Given the description of an element on the screen output the (x, y) to click on. 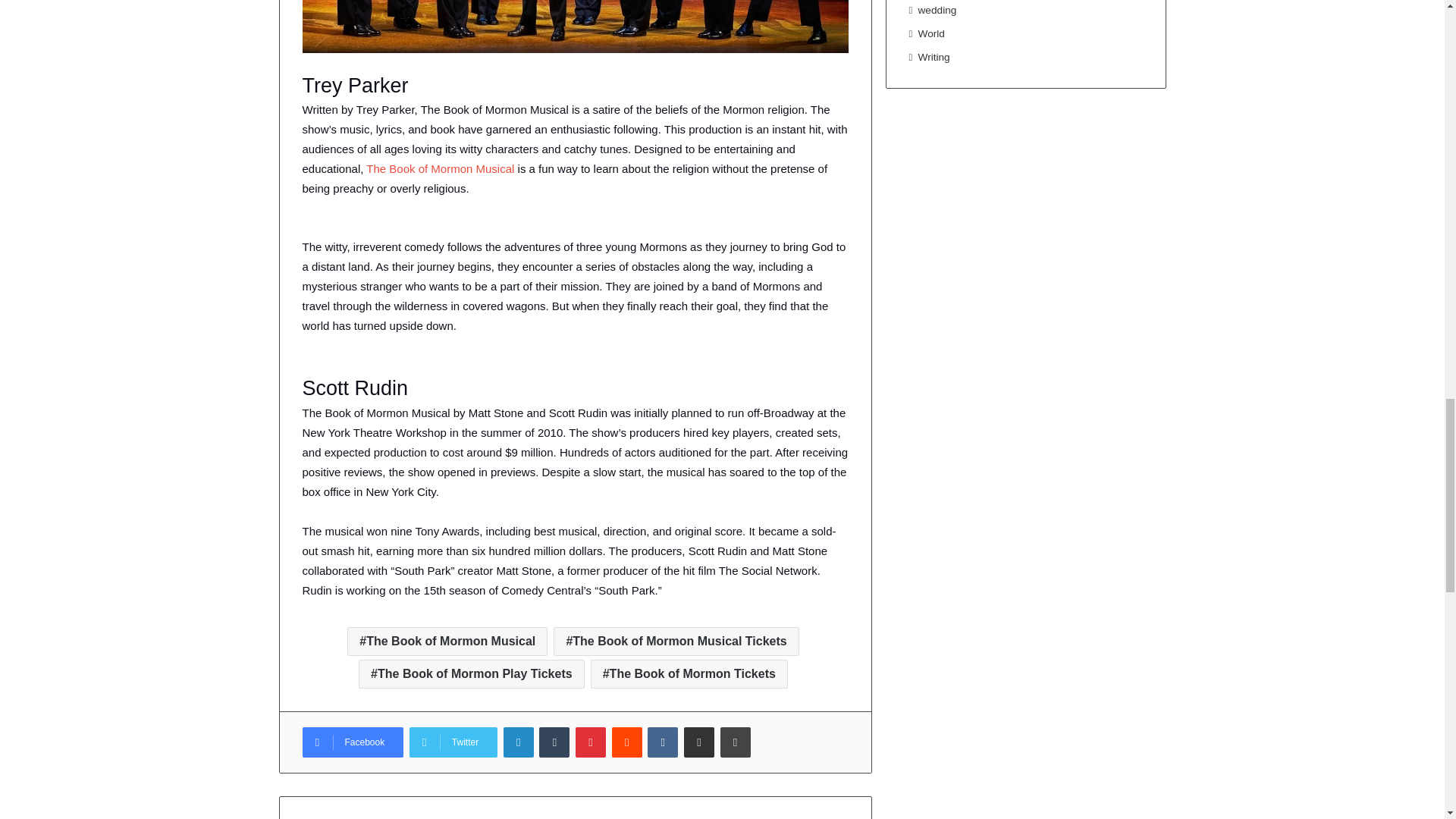
The Book of Mormon Tickets (689, 674)
LinkedIn (518, 742)
Pinterest (590, 742)
The Book of Mormon Musical Tickets (675, 641)
Tumblr (553, 742)
Twitter (453, 742)
Facebook (352, 742)
The Book of Mormon Musical (439, 168)
The Book of Mormon Play Tickets (471, 674)
Twitter (453, 742)
